Given the description of an element on the screen output the (x, y) to click on. 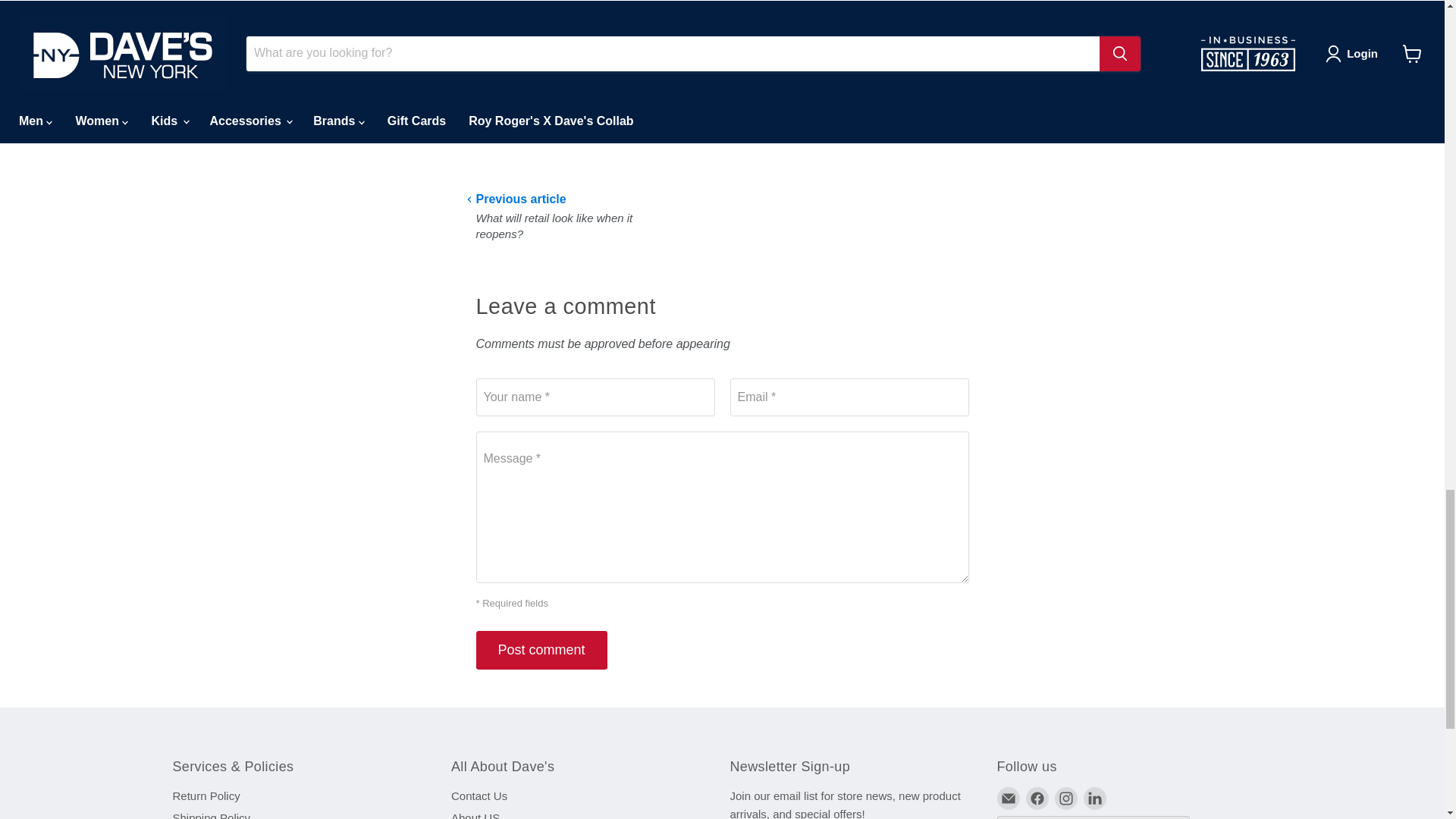
Email (1007, 798)
Facebook (1036, 798)
Instagram (1065, 798)
LinkedIn (1094, 798)
